Given the description of an element on the screen output the (x, y) to click on. 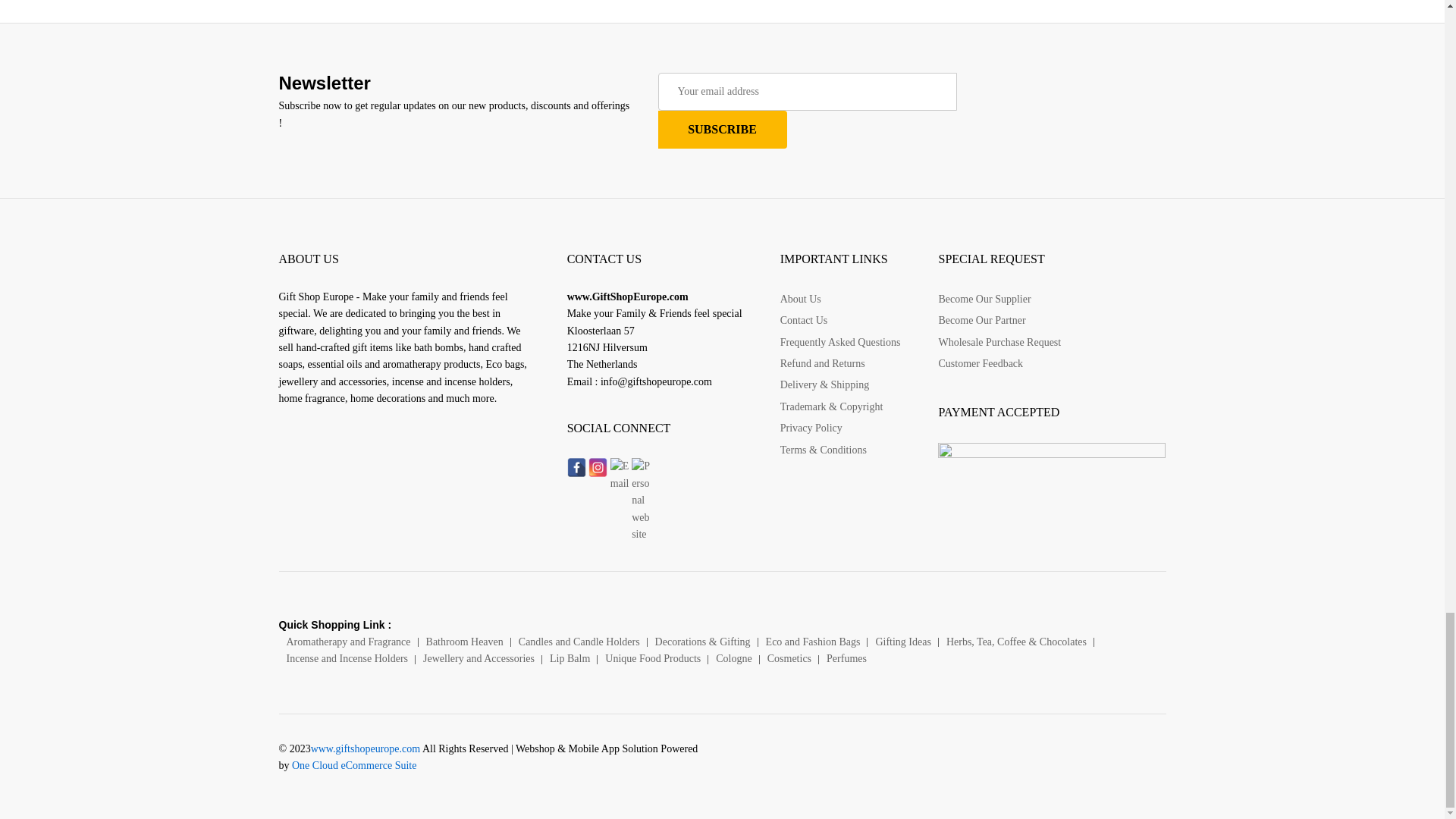
SUBSCRIBE (722, 129)
